Given the description of an element on the screen output the (x, y) to click on. 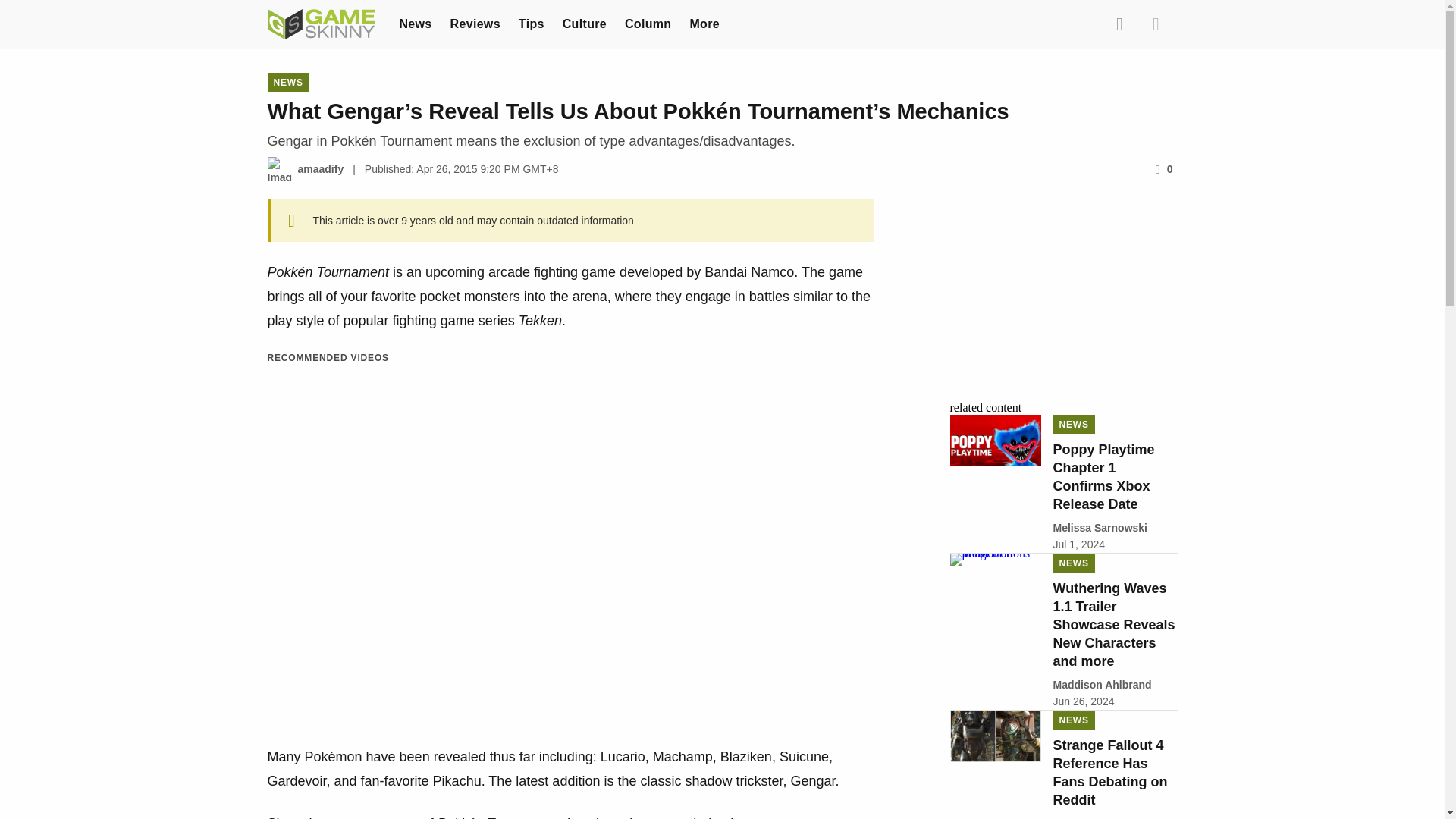
Column (647, 23)
Search (1118, 24)
Tips (531, 23)
Dark Mode (1155, 24)
News (414, 23)
Reviews (474, 23)
Culture (584, 23)
